Given the description of an element on the screen output the (x, y) to click on. 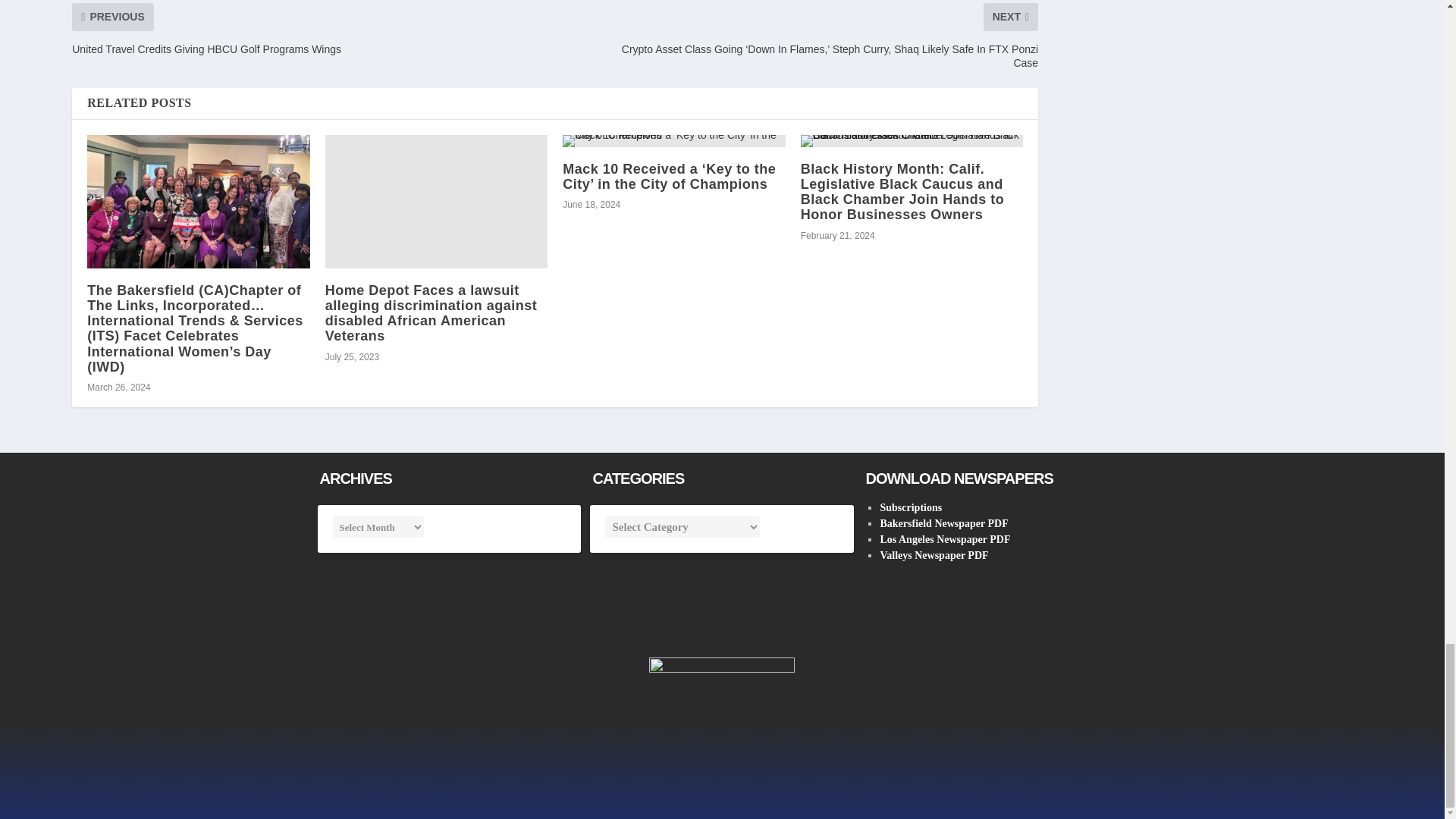
OGNSC-NNPAlogo (721, 730)
